Given the description of an element on the screen output the (x, y) to click on. 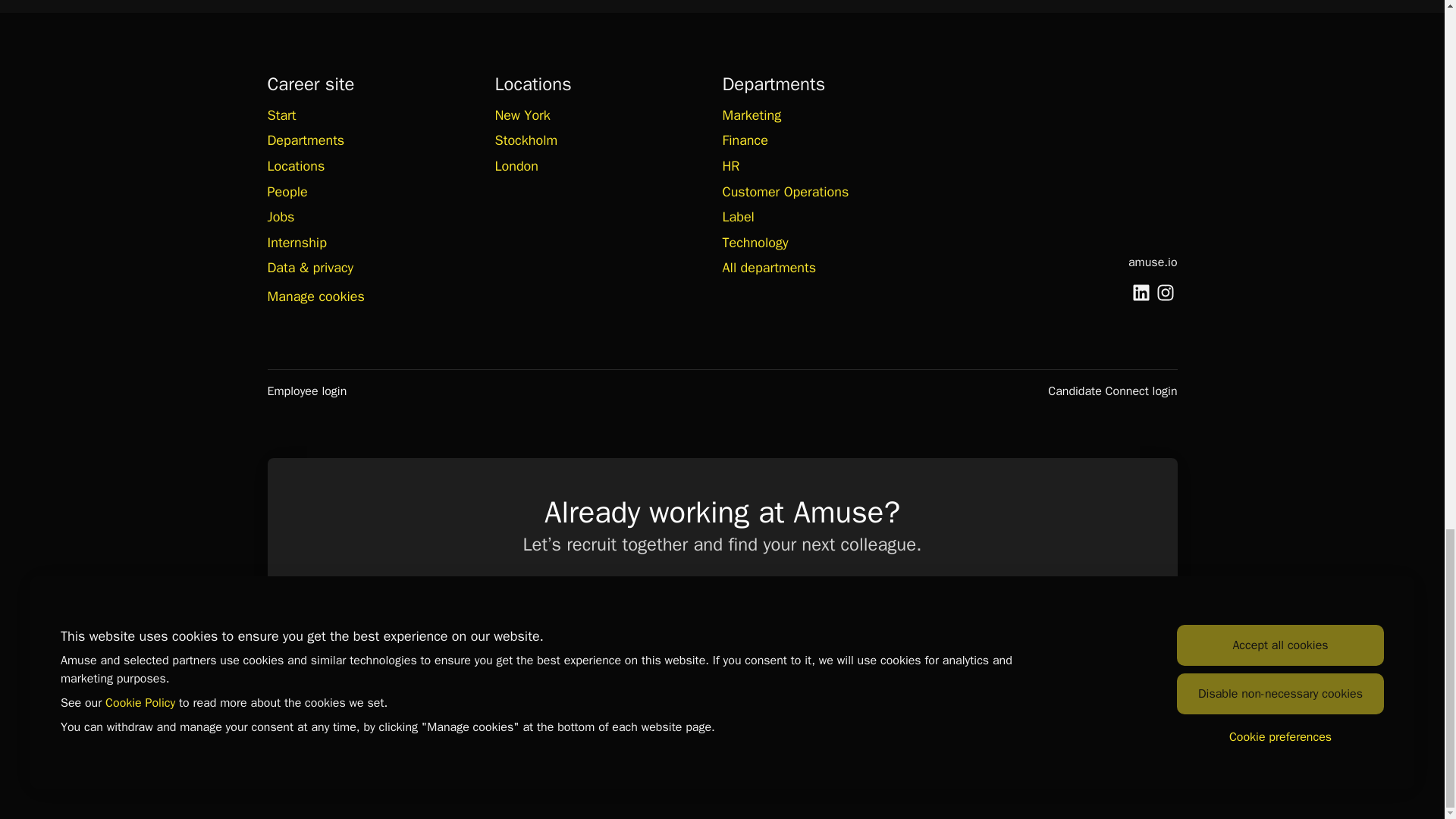
Joakim (610, 676)
David von Gegerfelt (908, 676)
Erik Ljungqvist (536, 676)
Jobs (280, 216)
Start (280, 115)
Departments (304, 139)
instagram (1164, 293)
Laura S. (685, 676)
Manage cookies (315, 296)
New York (522, 115)
linkedin (1140, 293)
Sean Staranka (982, 676)
Hanna Maruo (759, 676)
Jessica Jansson (462, 676)
Stockholm (526, 139)
